Given the description of an element on the screen output the (x, y) to click on. 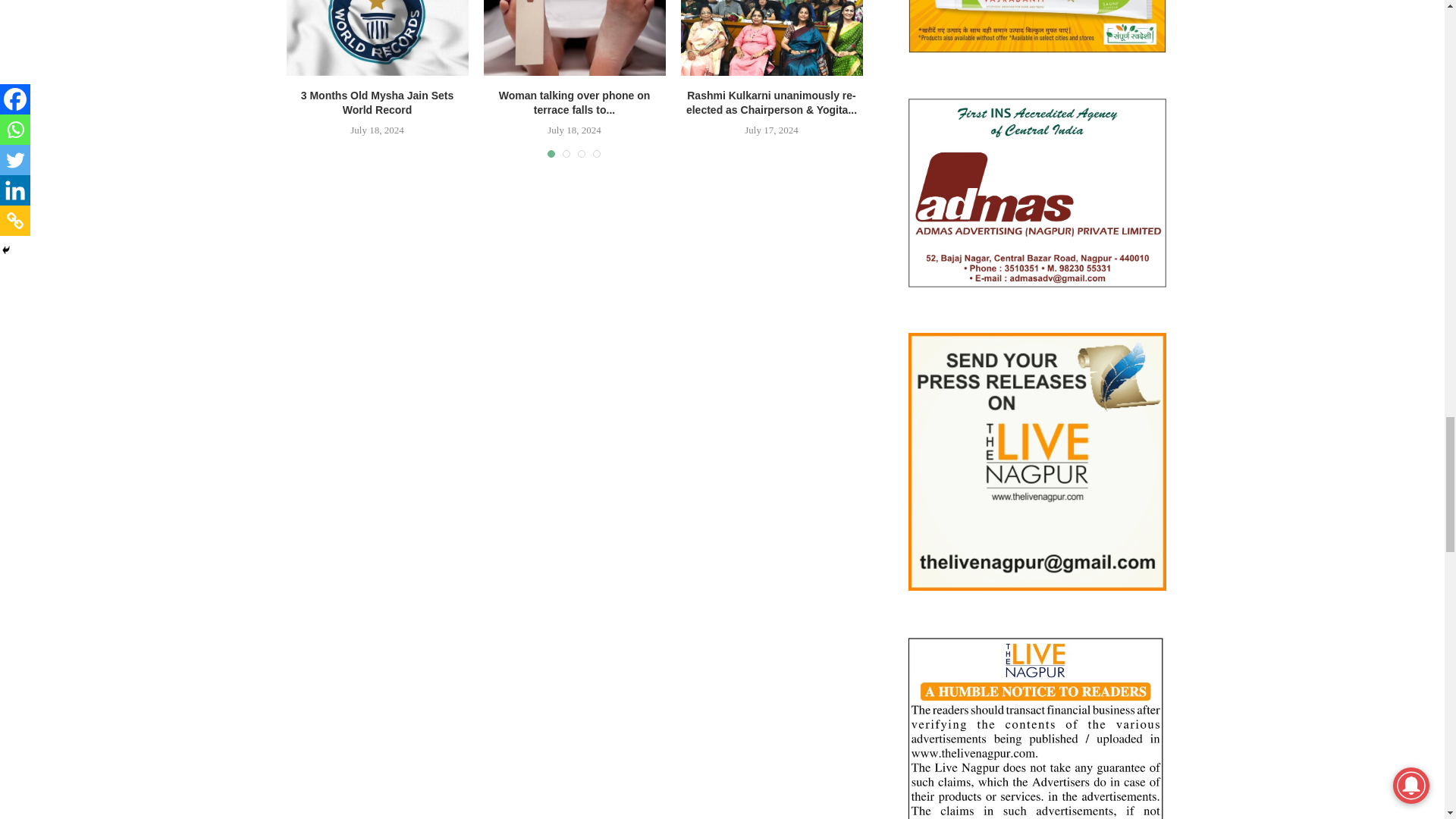
3 Months Old Mysha Jain Sets World Record (377, 38)
